Given the description of an element on the screen output the (x, y) to click on. 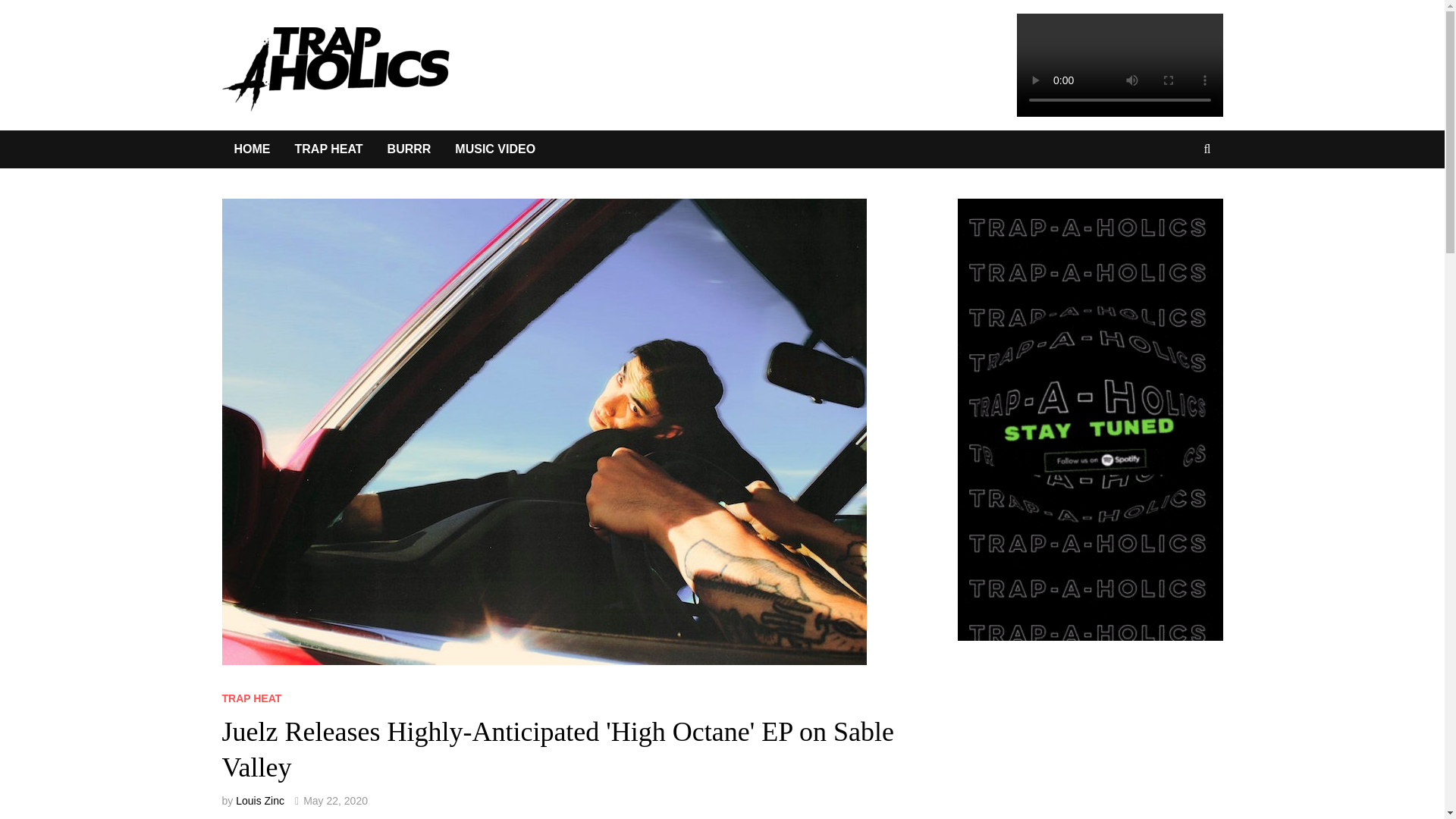
Advertisement (1105, 752)
Louis Zinc (259, 800)
May 22, 2020 (335, 800)
BURRR (409, 149)
MUSIC VIDEO (494, 149)
HOME (251, 149)
TRAP HEAT (251, 698)
TRAP HEAT (328, 149)
